Given the description of an element on the screen output the (x, y) to click on. 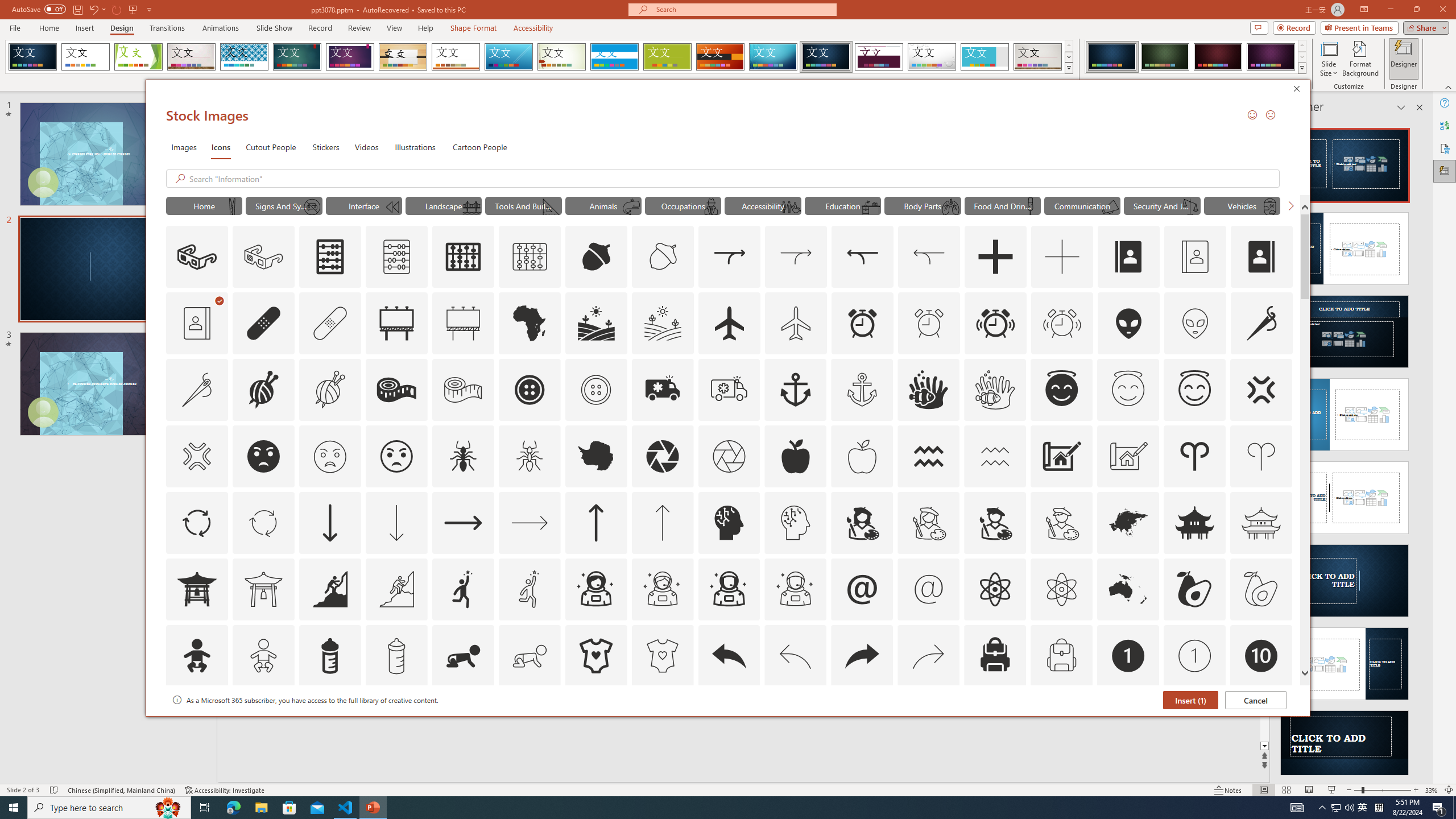
AutomationID: Icons_Antarctica (595, 455)
Damask Variant 2 (1164, 56)
AutomationID: Icons_AlienFace_M (1194, 323)
"Animals" Icons. (603, 205)
AutomationID: Icons_AlarmRinging (995, 323)
AutomationID: Icons_AlterationsTailoring3_M (595, 389)
AutomationID: Icons_Ambulance_M (729, 389)
AutomationID: Icons_AddressBook_RTL (1261, 256)
AutomationID: SlideThemesGallery (539, 56)
